Given the description of an element on the screen output the (x, y) to click on. 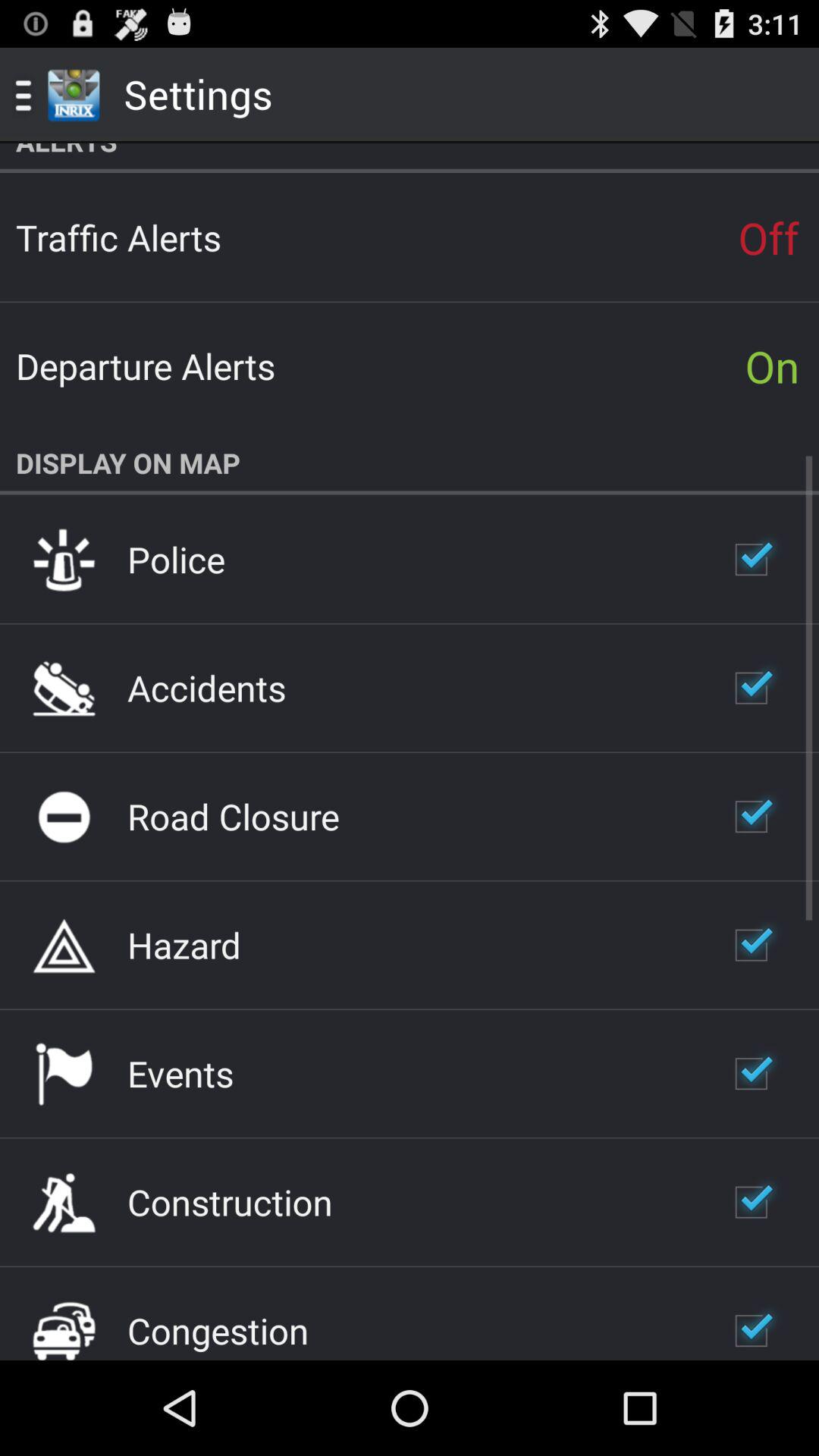
press the app to the left of on icon (145, 365)
